Given the description of an element on the screen output the (x, y) to click on. 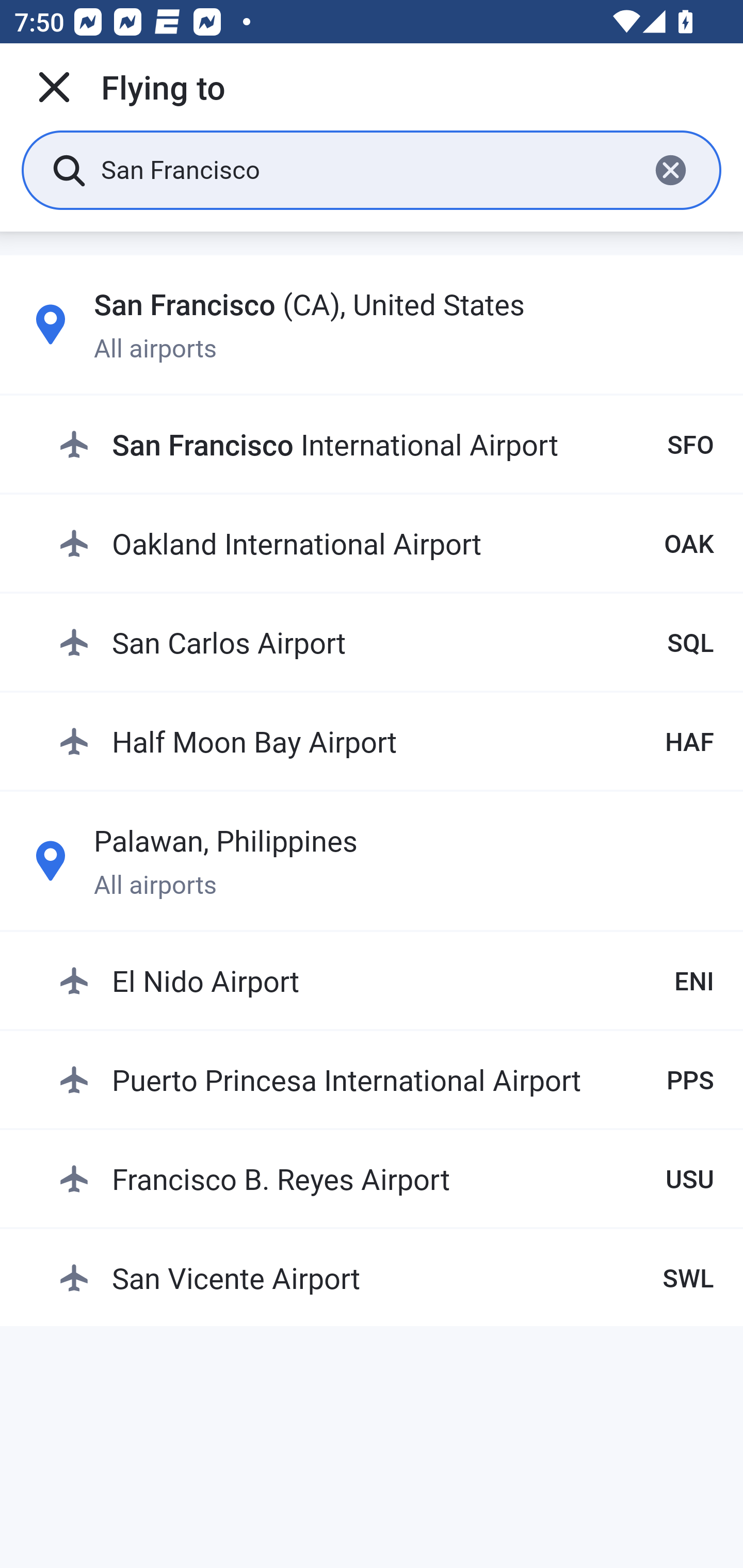
San Francisco (367, 169)
San Francisco (CA), United States All airports (371, 324)
San Francisco International Airport SFO (385, 444)
Oakland International Airport OAK (385, 543)
San Carlos Airport SQL (385, 641)
Half Moon Bay Airport HAF (385, 740)
Palawan, Philippines All airports (371, 860)
El Nido Airport ENI (385, 980)
Puerto Princesa International Airport PPS (385, 1079)
Francisco B. Reyes Airport USU (385, 1178)
San Vicente Airport SWL (385, 1277)
